Given the description of an element on the screen output the (x, y) to click on. 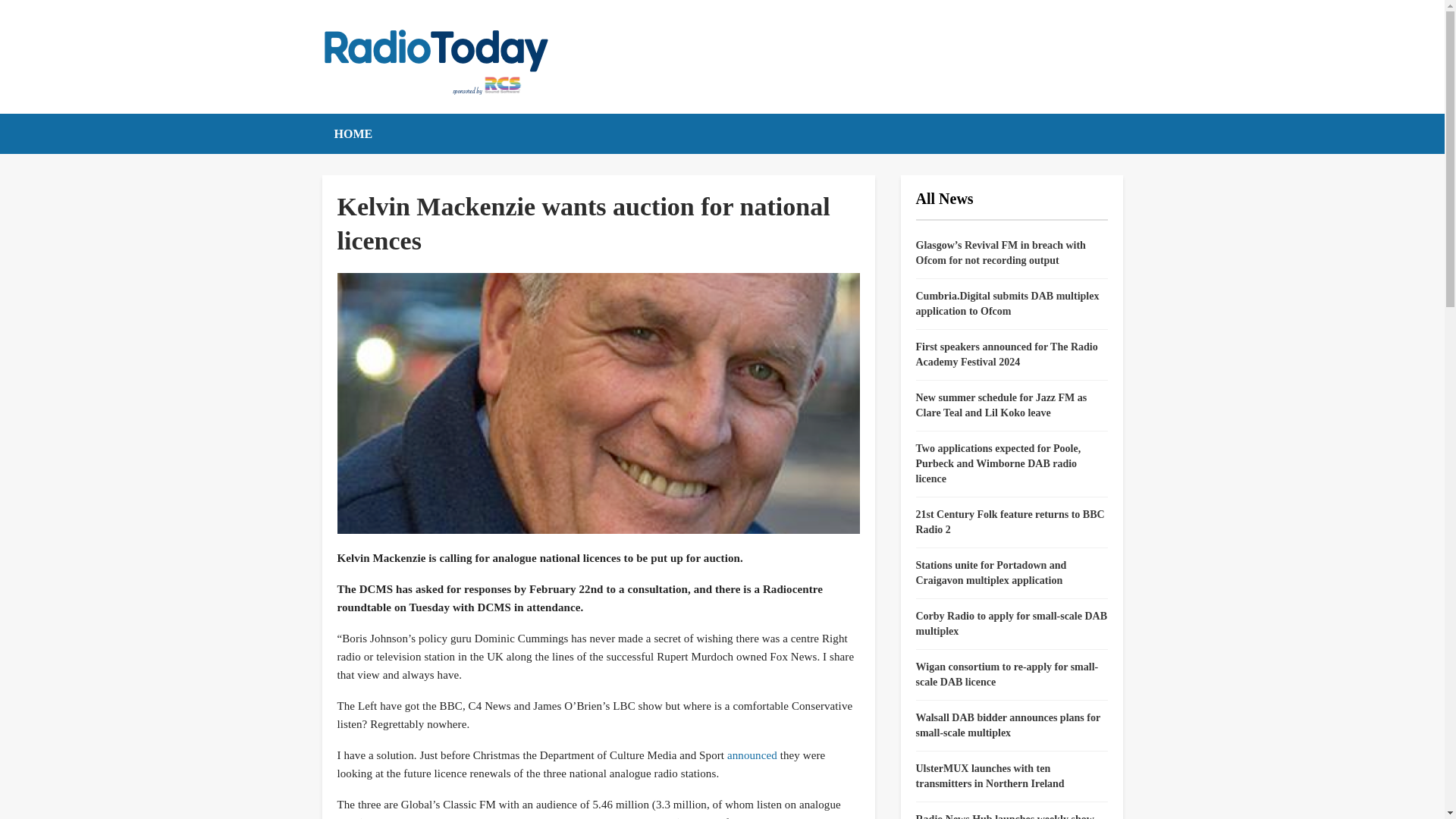
UlsterMUX launches with ten transmitters in Northern Ireland (989, 775)
HOME (352, 133)
Corby Radio to apply for small-scale DAB multiplex (1011, 623)
Wigan consortium to re-apply for small-scale DAB licence (1007, 673)
Cumbria.Digital submits DAB multiplex application to Ofcom (1007, 303)
announced (751, 755)
Walsall DAB bidder announces plans for small-scale multiplex (1007, 724)
First speakers announced for The Radio Academy Festival 2024 (1006, 354)
Radio News Hub launches weekly show with Dr Hilary Jones (1004, 816)
21st Century Folk feature returns to BBC Radio 2 (1010, 521)
